Given the description of an element on the screen output the (x, y) to click on. 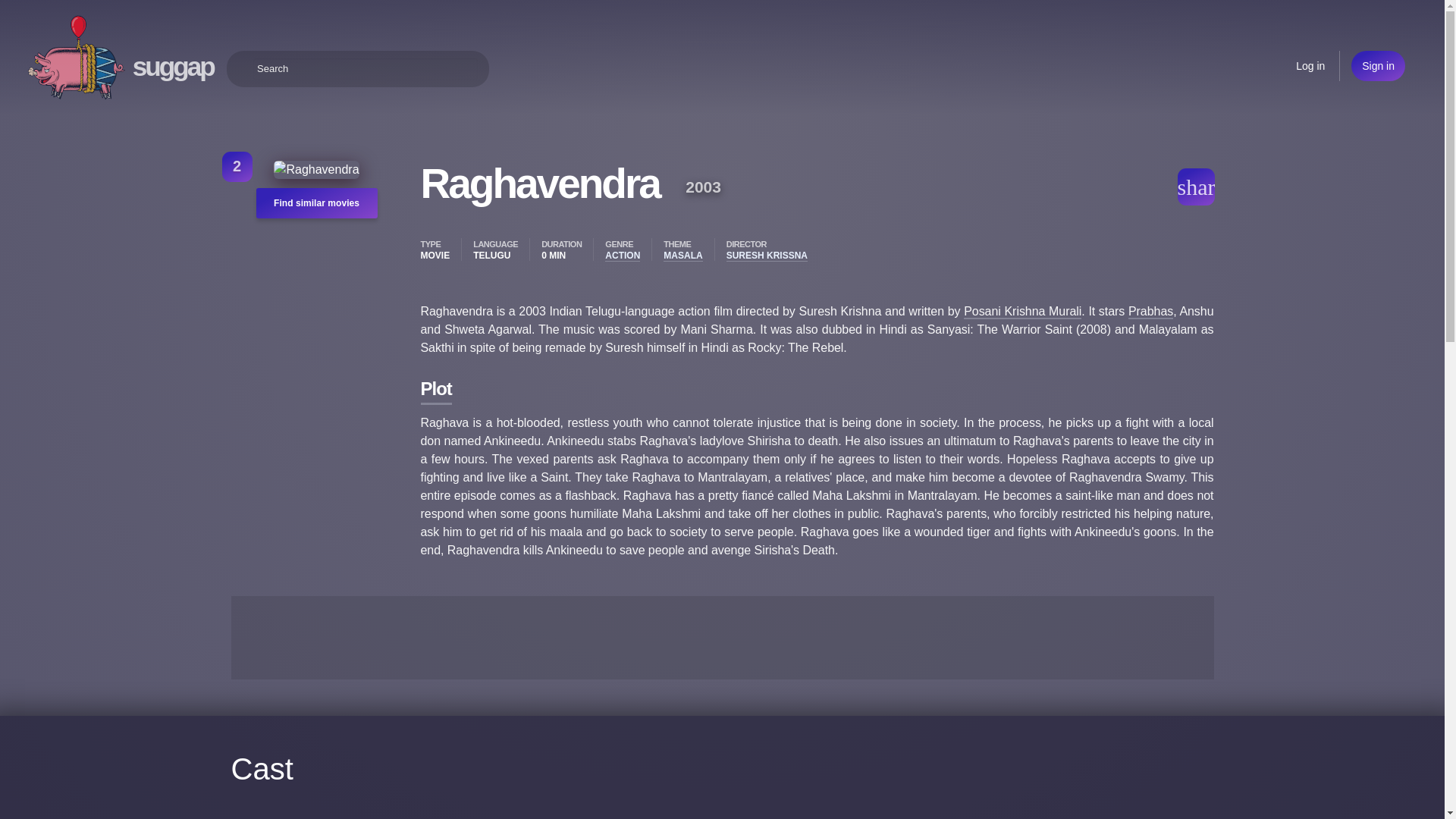
Score (236, 166)
SURESH KRISSNA (767, 255)
Find similar movies (316, 203)
Oink, oink... (76, 57)
MASALA (682, 255)
Posani Krishna Murali (1022, 311)
Log in (1309, 65)
ACTION (622, 255)
Sign in (1378, 65)
Share (1195, 186)
